Given the description of an element on the screen output the (x, y) to click on. 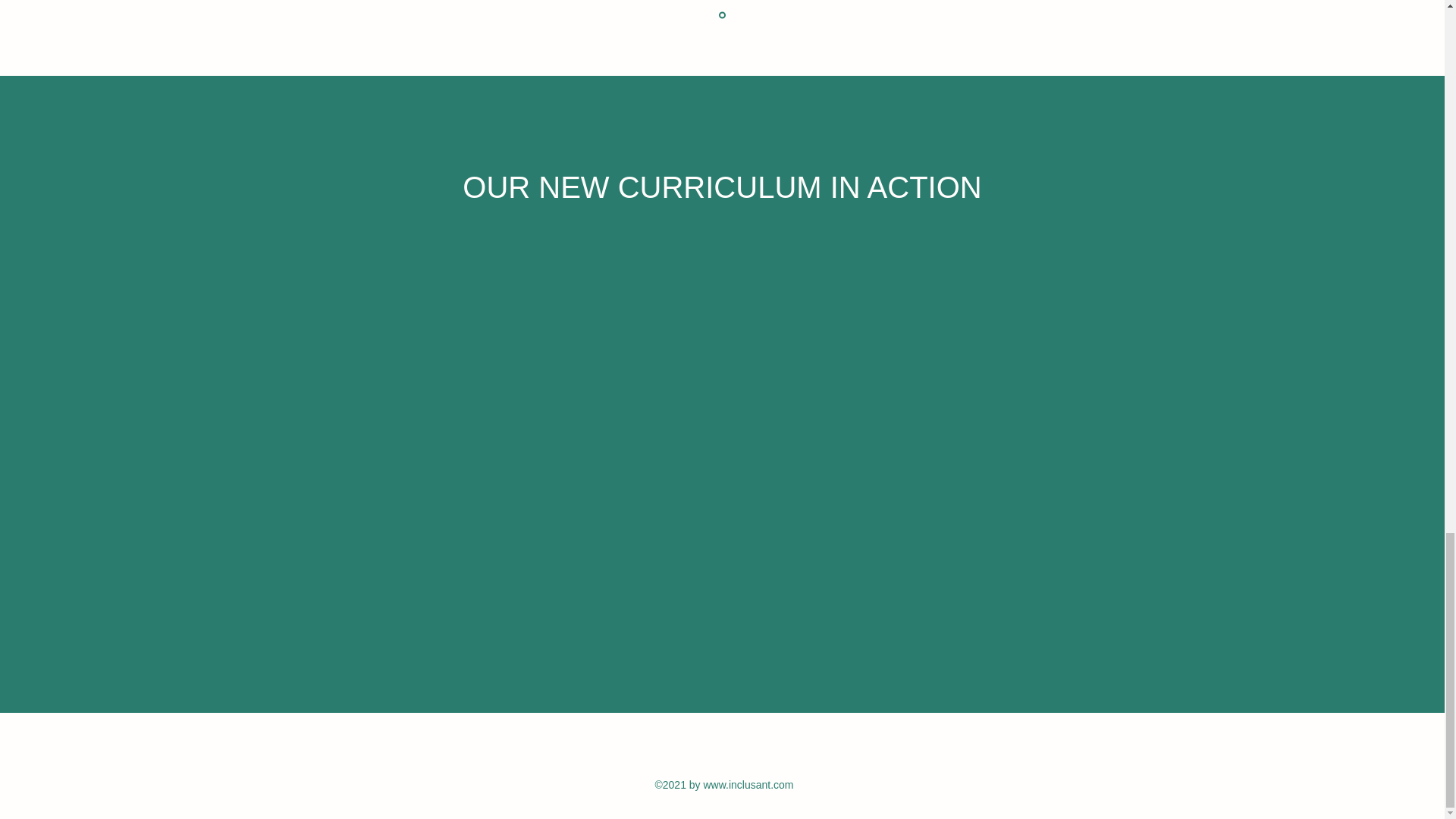
www.inclusant.com (748, 784)
